Given the description of an element on the screen output the (x, y) to click on. 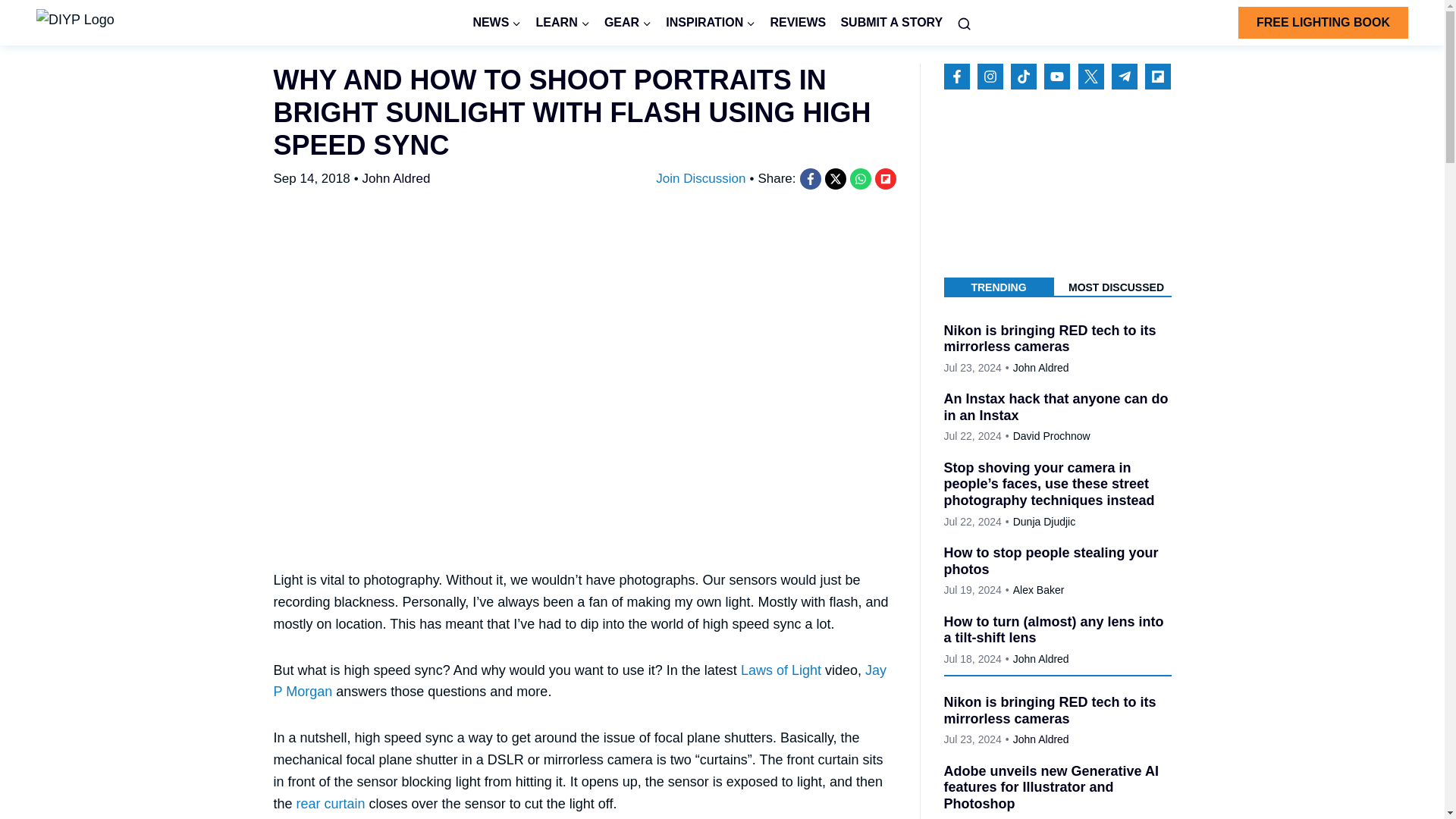
What is rear curtain flash sync? (331, 803)
NEWS (496, 22)
Search articles (964, 22)
